Given the description of an element on the screen output the (x, y) to click on. 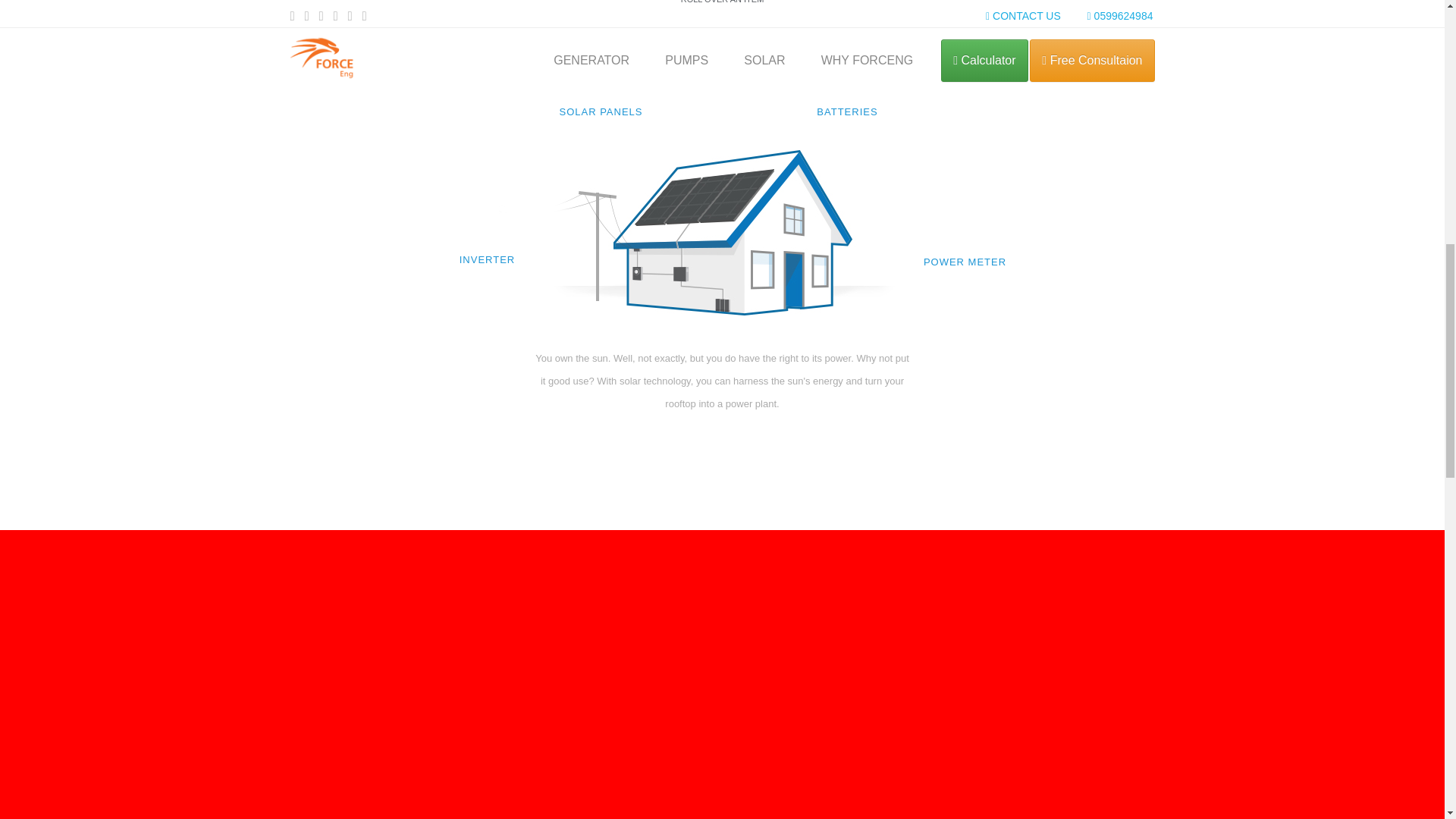
BATTERIES (847, 74)
POWER METER (964, 224)
SOLAR PANELS (600, 74)
INVERTER (486, 222)
